Given the description of an element on the screen output the (x, y) to click on. 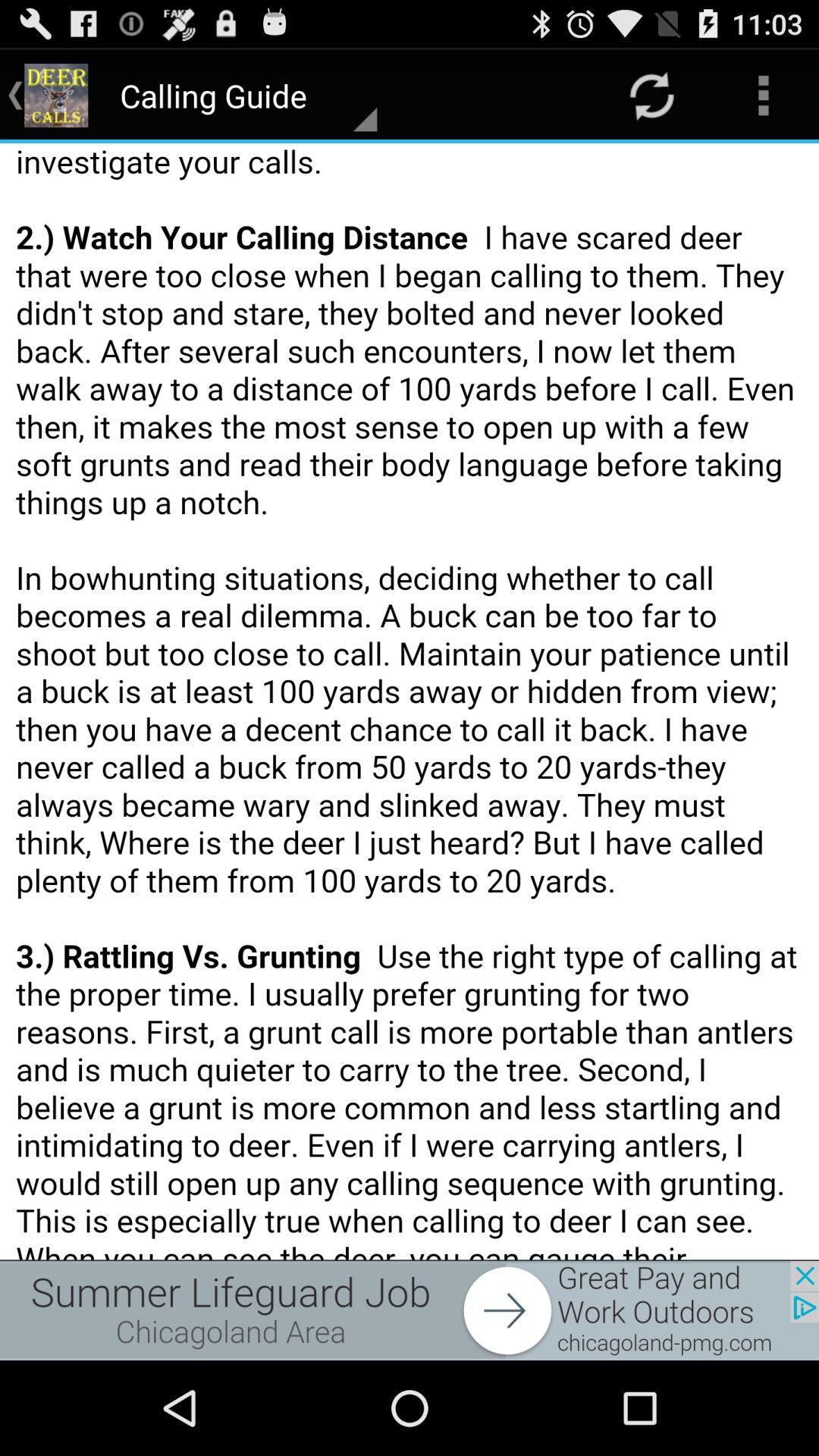
add the option (409, 1310)
